Given the description of an element on the screen output the (x, y) to click on. 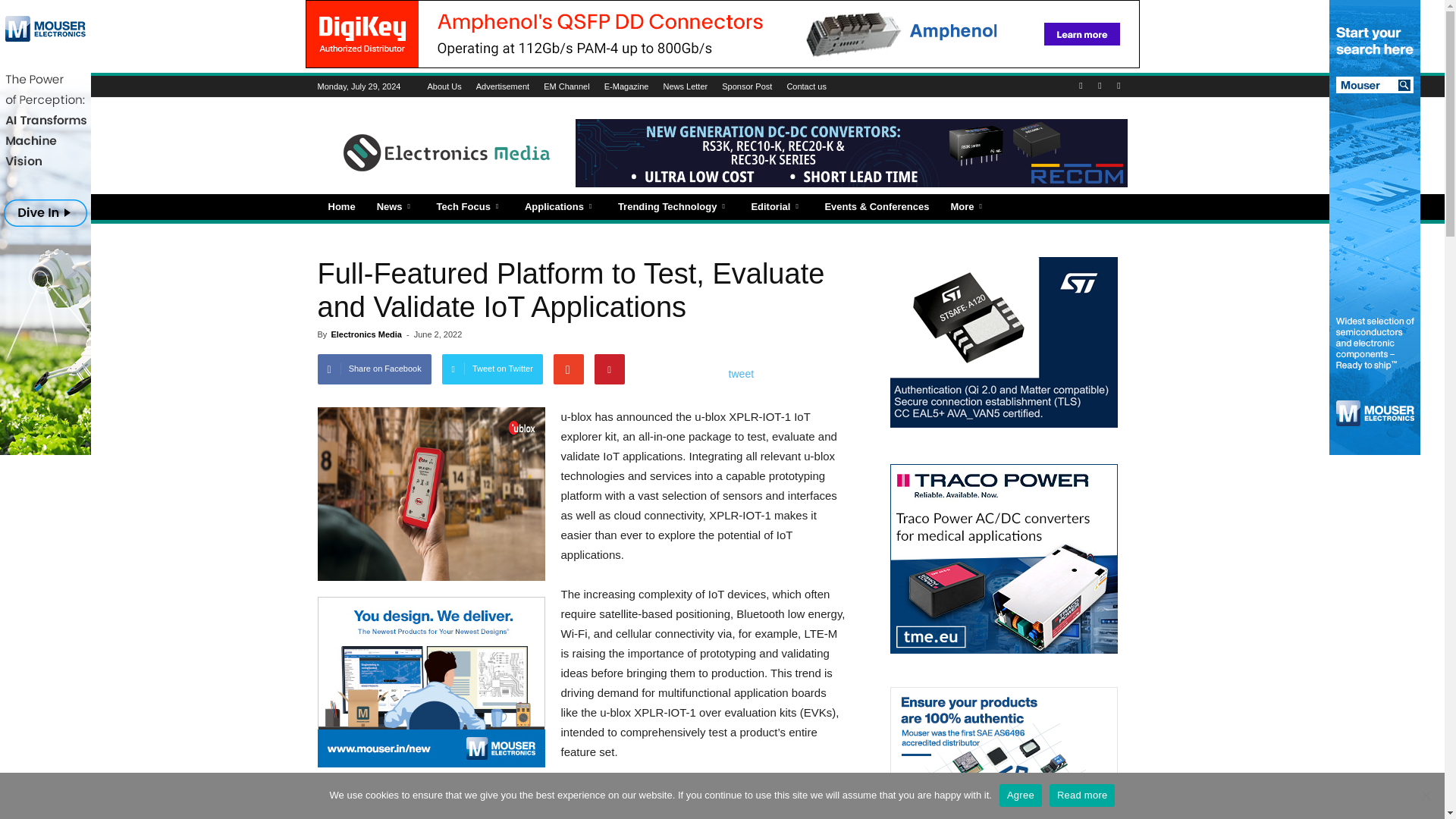
advertisement (1375, 227)
Facebook (1080, 86)
Twitter (1117, 86)
Linkedin (1099, 86)
advertisement (430, 681)
Validate IoT Applications (430, 493)
advertisement (45, 227)
